Given the description of an element on the screen output the (x, y) to click on. 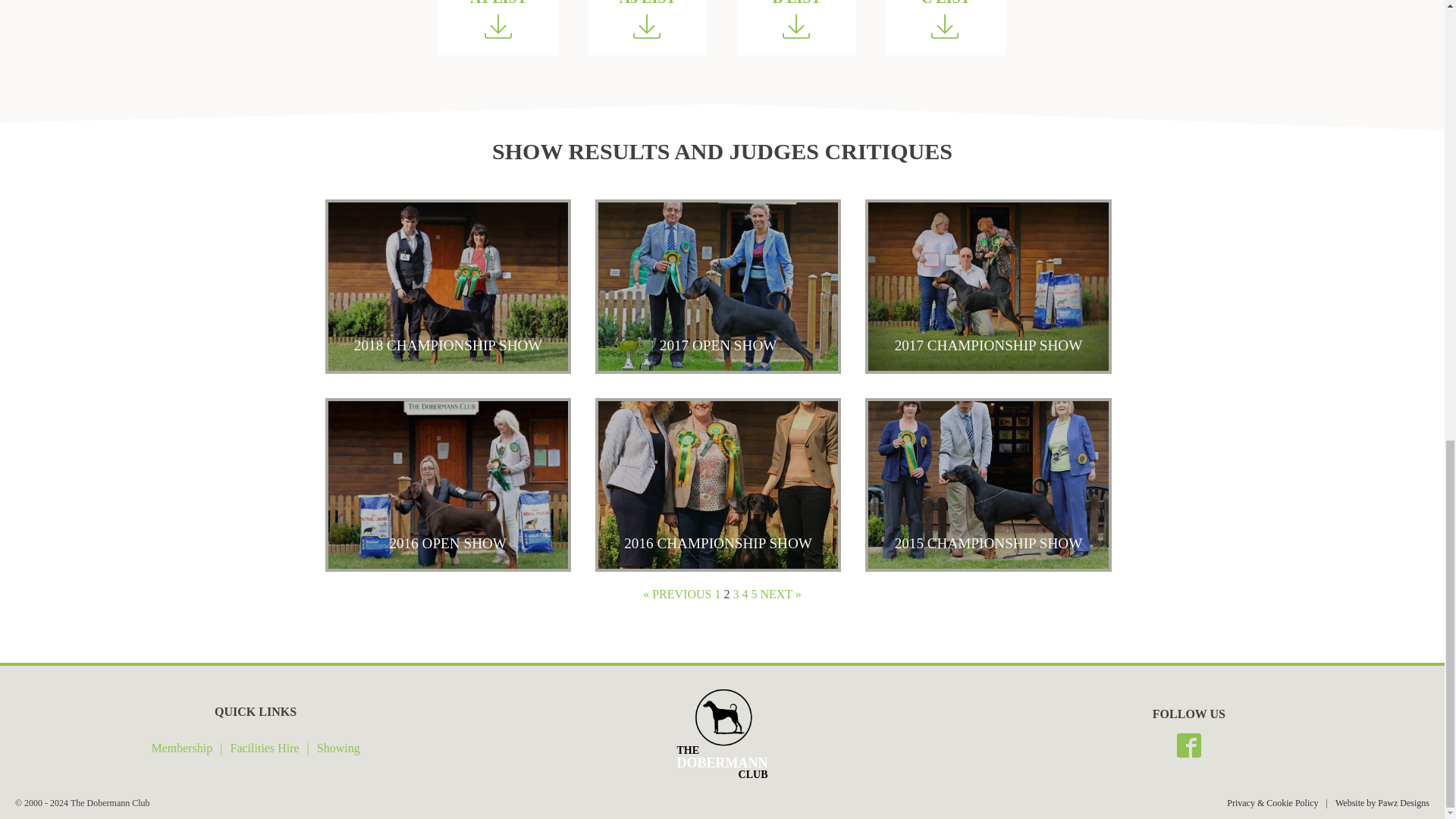
2018 CHAMPIONSHIP SHOW (447, 285)
A1 LIST (498, 27)
Facilities Hire (264, 748)
2017 OPEN SHOW (718, 285)
2015 CHAMPIONSHIP SHOW (987, 484)
5 (754, 594)
4 (744, 594)
1 (717, 594)
2016 OPEN SHOW (447, 484)
2017 CHAMPIONSHIP SHOW (987, 285)
Website by Pawz Designs (1382, 803)
B LIST (796, 27)
Showing (338, 748)
A3 LIST (647, 27)
3 (735, 594)
